Given the description of an element on the screen output the (x, y) to click on. 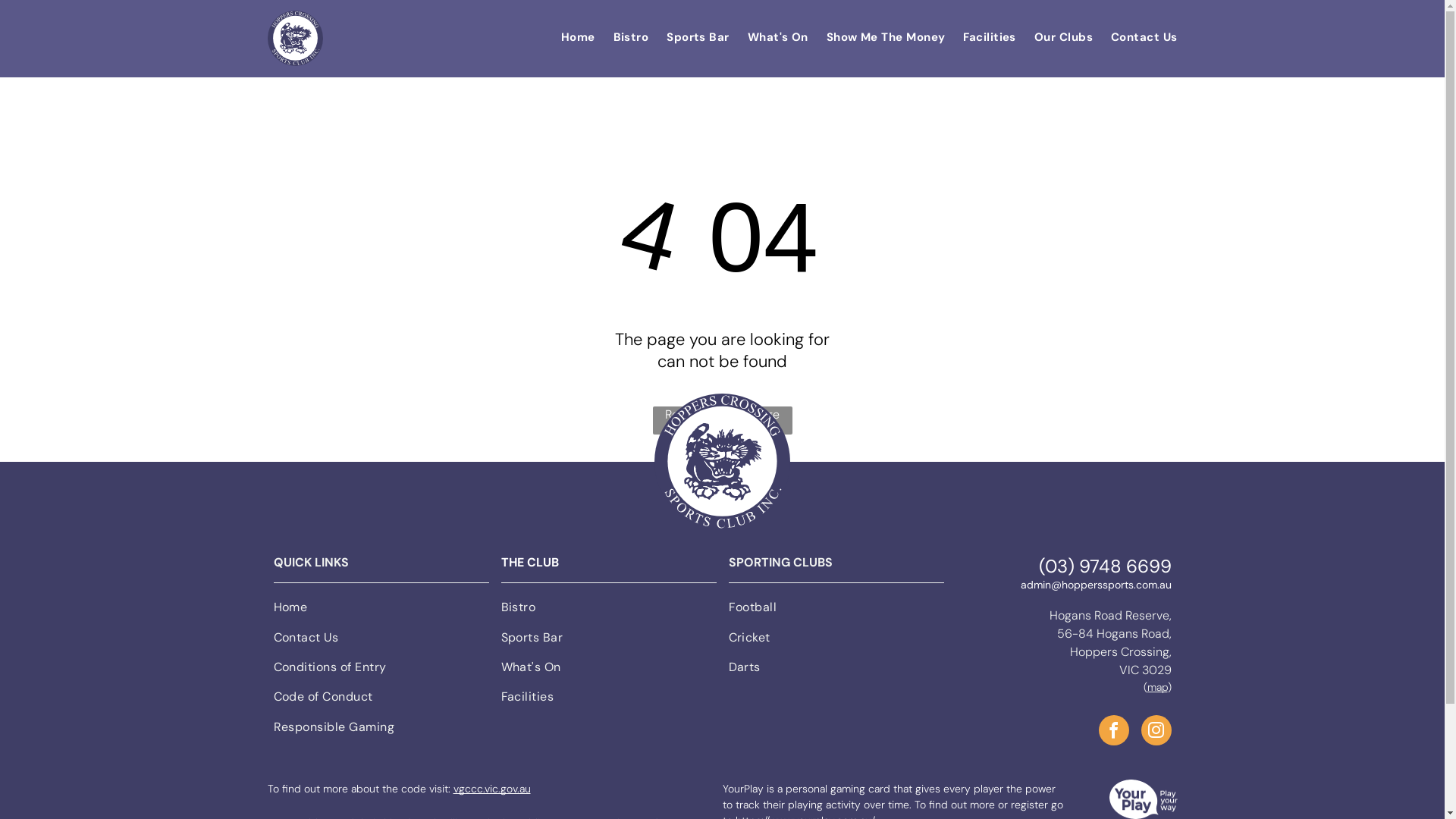
What's On Element type: text (607, 669)
Facilities Element type: text (980, 36)
Contact Us Element type: text (1134, 36)
Sports Bar Element type: text (607, 639)
Back to home page Element type: hover (721, 461)
Darts Element type: text (835, 669)
Show Me The Money Element type: text (876, 36)
Football Element type: text (835, 609)
Contact Us Element type: text (380, 639)
Sports Bar Element type: text (688, 36)
Our Clubs Element type: text (1054, 36)
Responsible Gaming Element type: text (380, 728)
Facilities Element type: text (607, 699)
What's On Element type: text (768, 36)
admin@hopperssports.com.au Element type: text (1095, 584)
Bistro Element type: text (607, 609)
vgccc.vic.gov.au Element type: text (491, 788)
Home Element type: text (380, 609)
Bistro Element type: text (622, 36)
Home Element type: text (568, 36)
Conditions of Entry Element type: text (380, 669)
Cricket Element type: text (835, 639)
(03) 9748 6699 Element type: text (1104, 565)
Code of Conduct Element type: text (380, 699)
map Element type: text (1156, 686)
Return to Homepage Element type: text (721, 420)
